Given the description of an element on the screen output the (x, y) to click on. 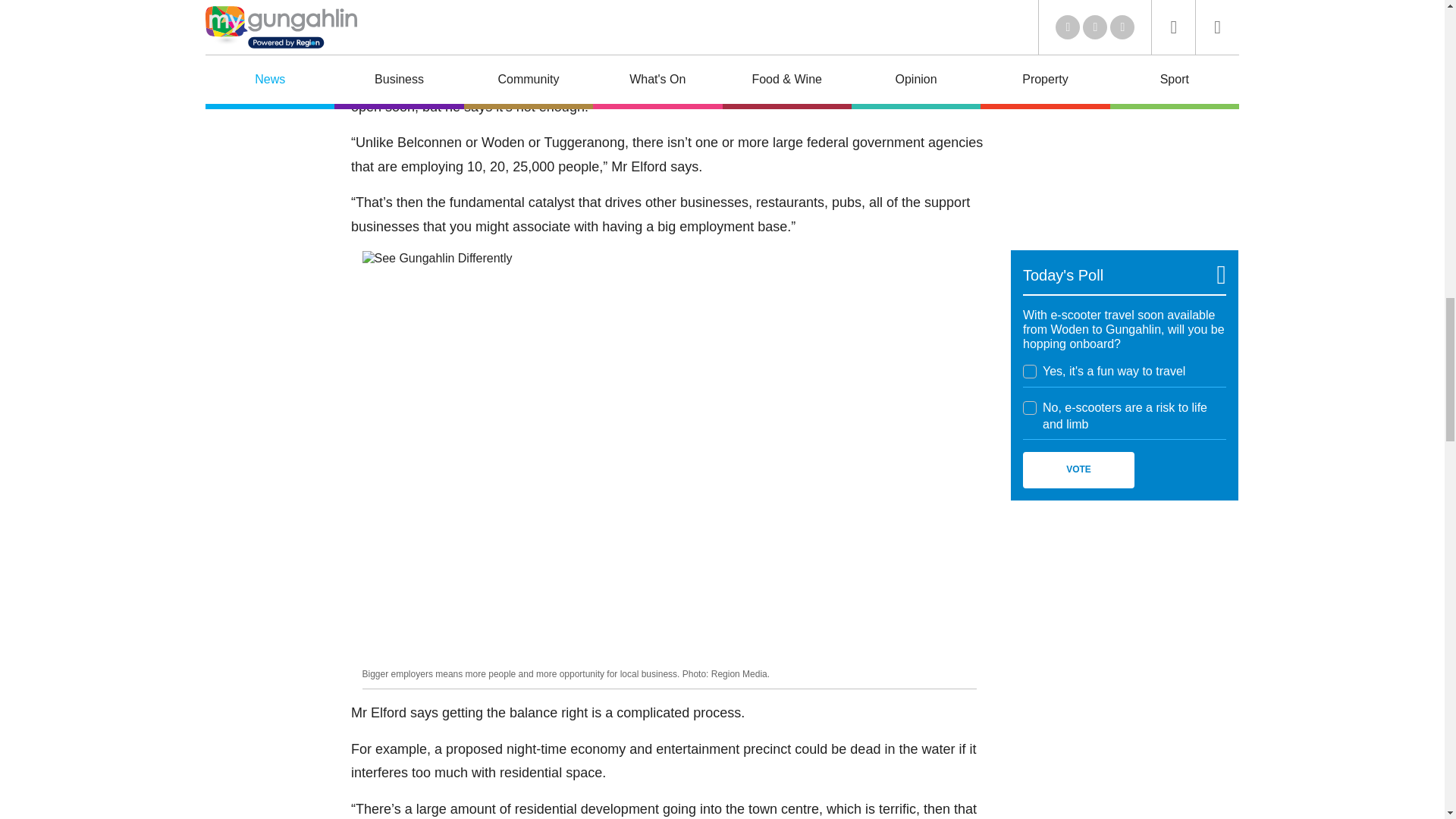
1 (1029, 371)
   Vote    (1078, 470)
2 (1029, 407)
Zango Sales (1124, 131)
